Given the description of an element on the screen output the (x, y) to click on. 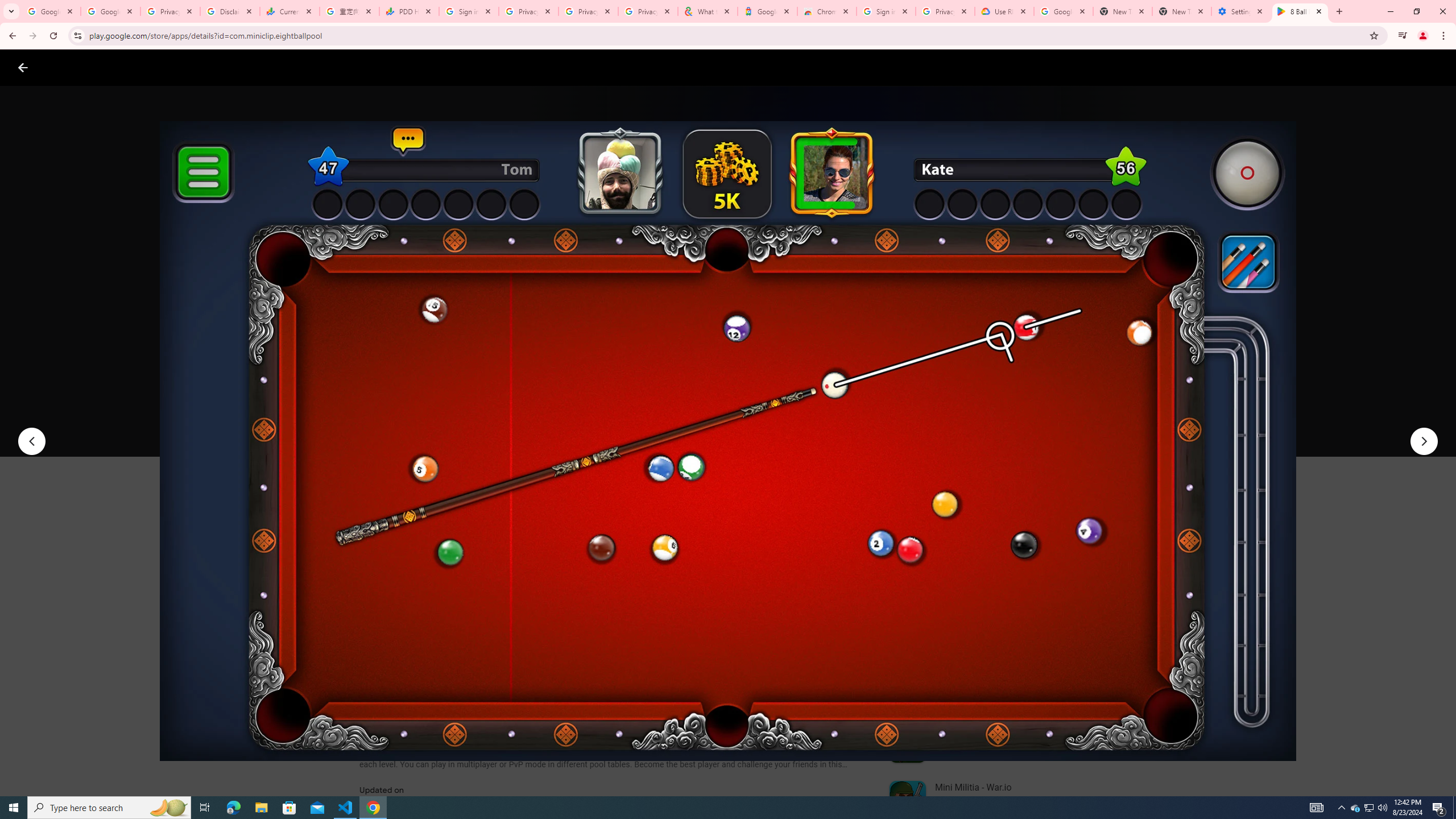
More info about this content rating (575, 385)
Privacy Checkup (647, 11)
Games (141, 67)
See more information on More by Miniclip.com (1029, 539)
Play trailer (1062, 423)
Share (506, 422)
Sign in - Google Accounts (468, 11)
